Given the description of an element on the screen output the (x, y) to click on. 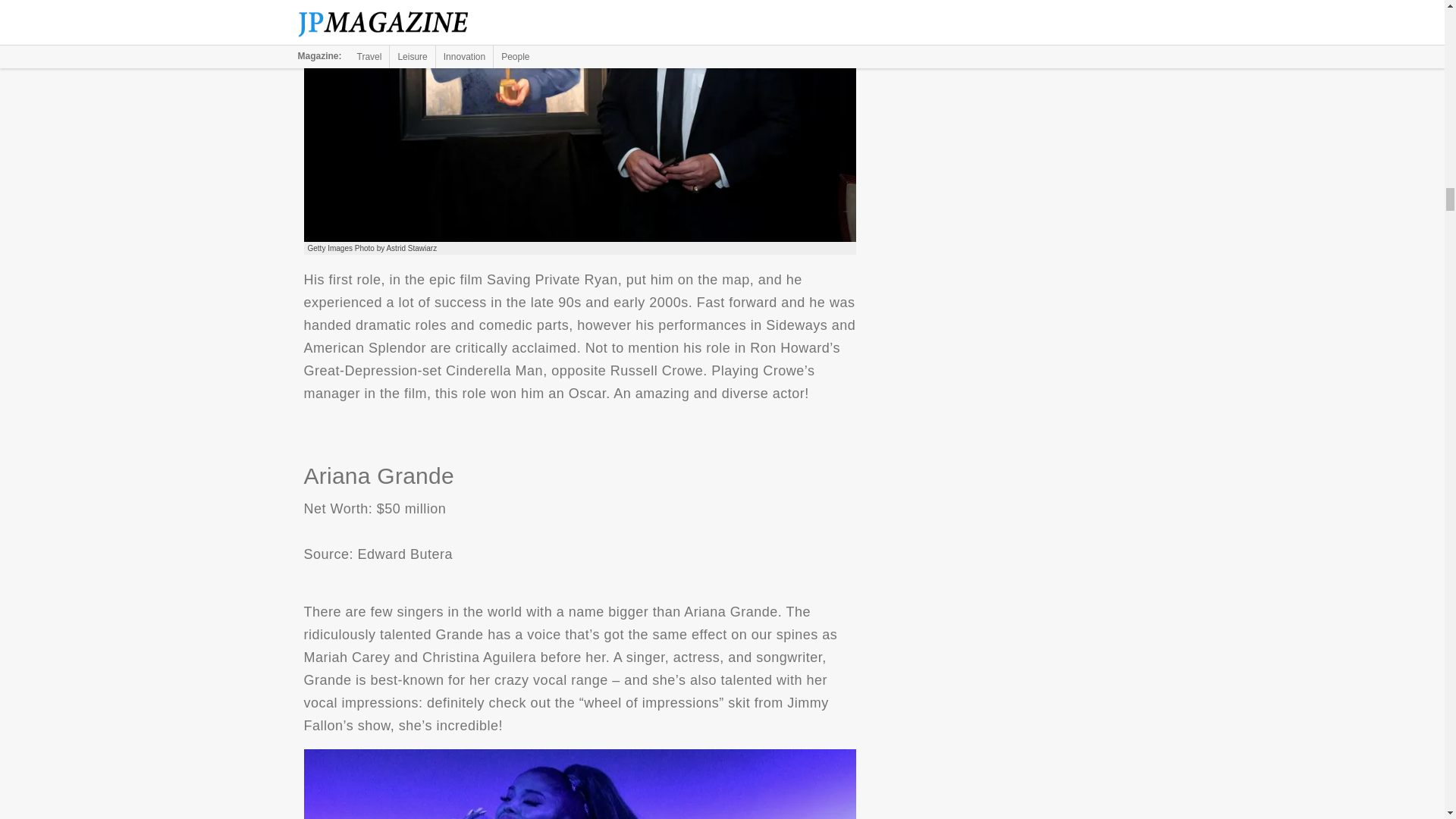
Ariana Grande (579, 784)
Paul Giamatti (579, 120)
